Given the description of an element on the screen output the (x, y) to click on. 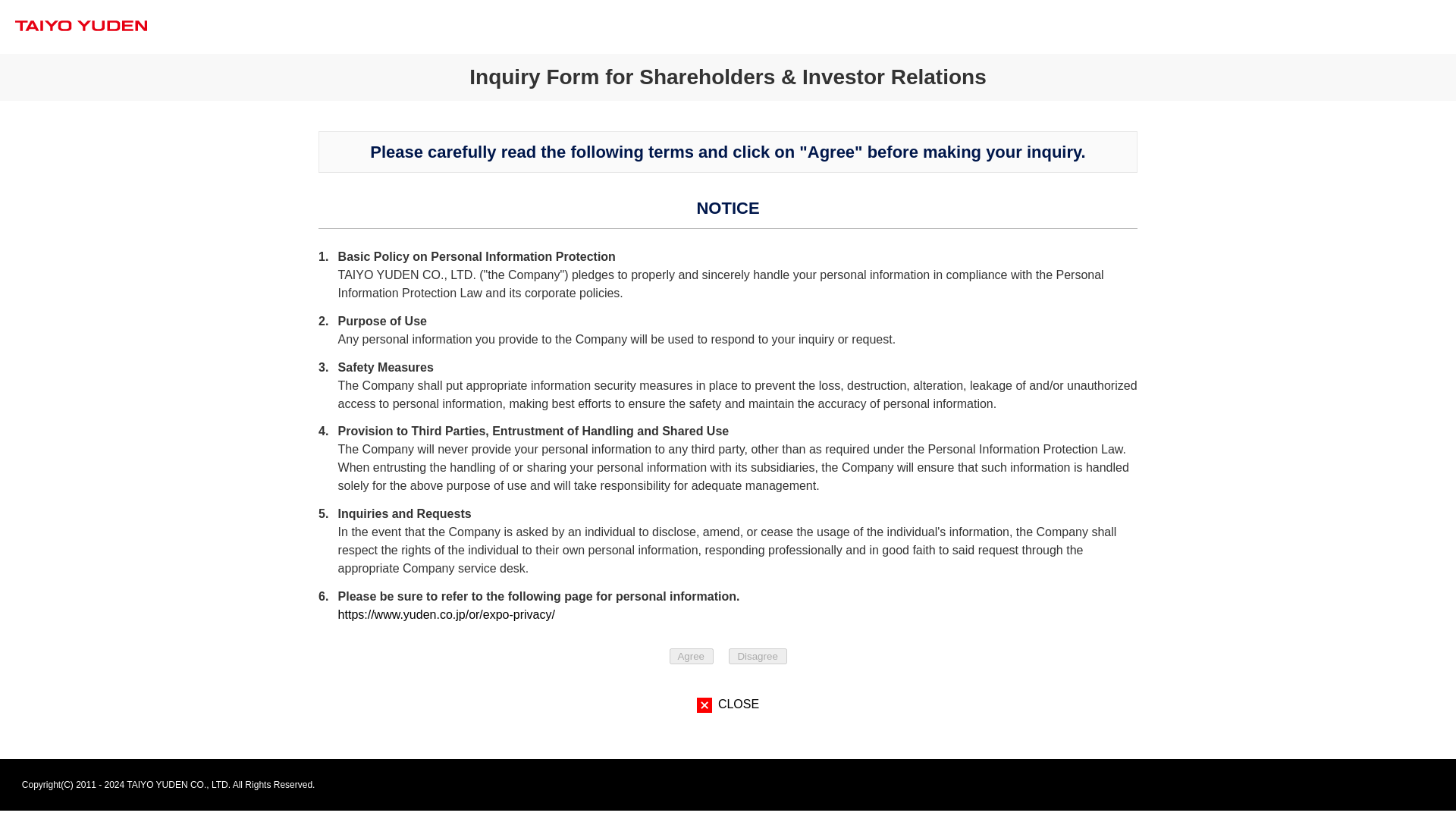
 Disagree  (758, 656)
CLOSE (727, 703)
 Agree  (690, 656)
